Given the description of an element on the screen output the (x, y) to click on. 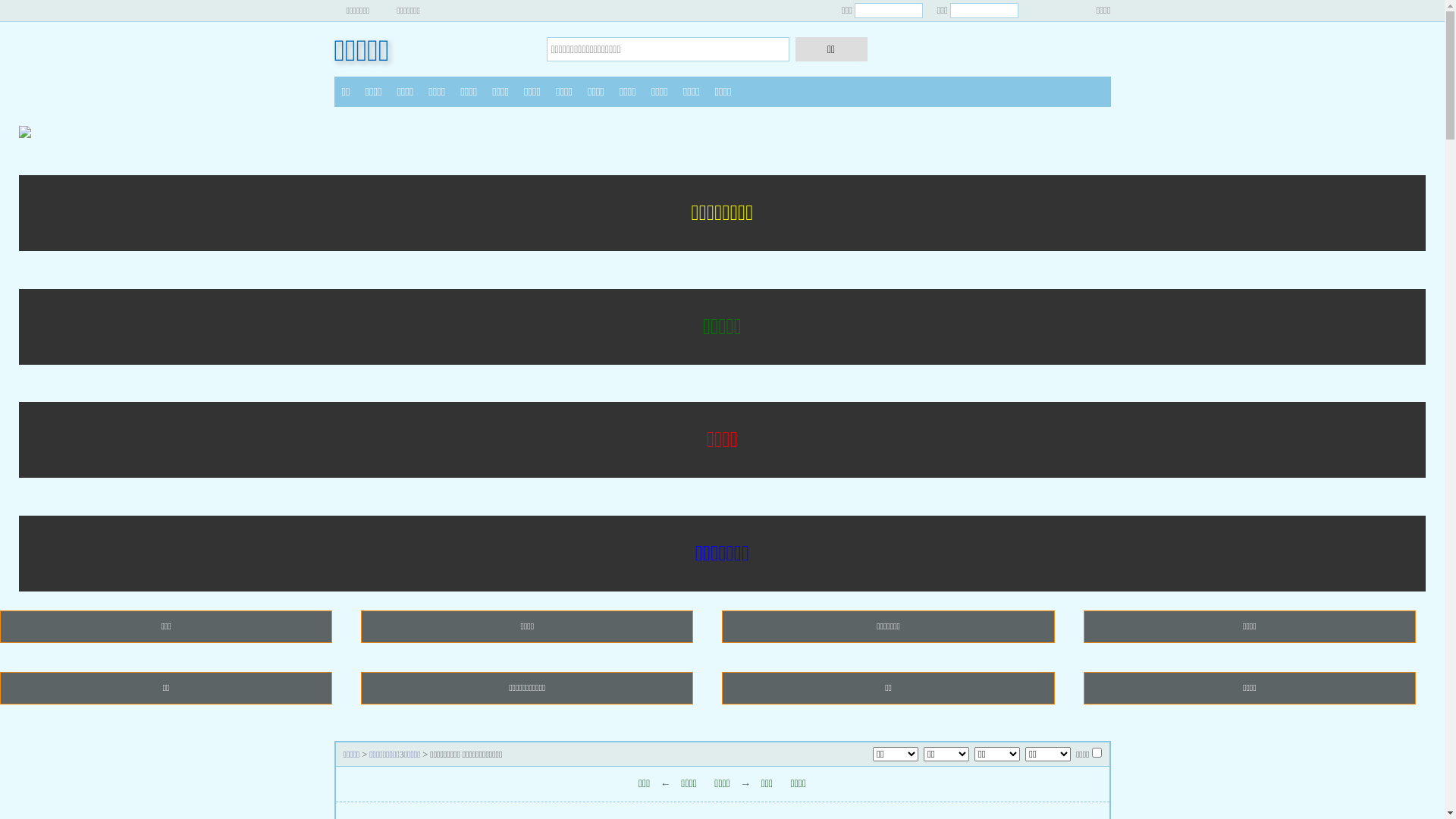
  Element type: text (1051, 10)
